Given the description of an element on the screen output the (x, y) to click on. 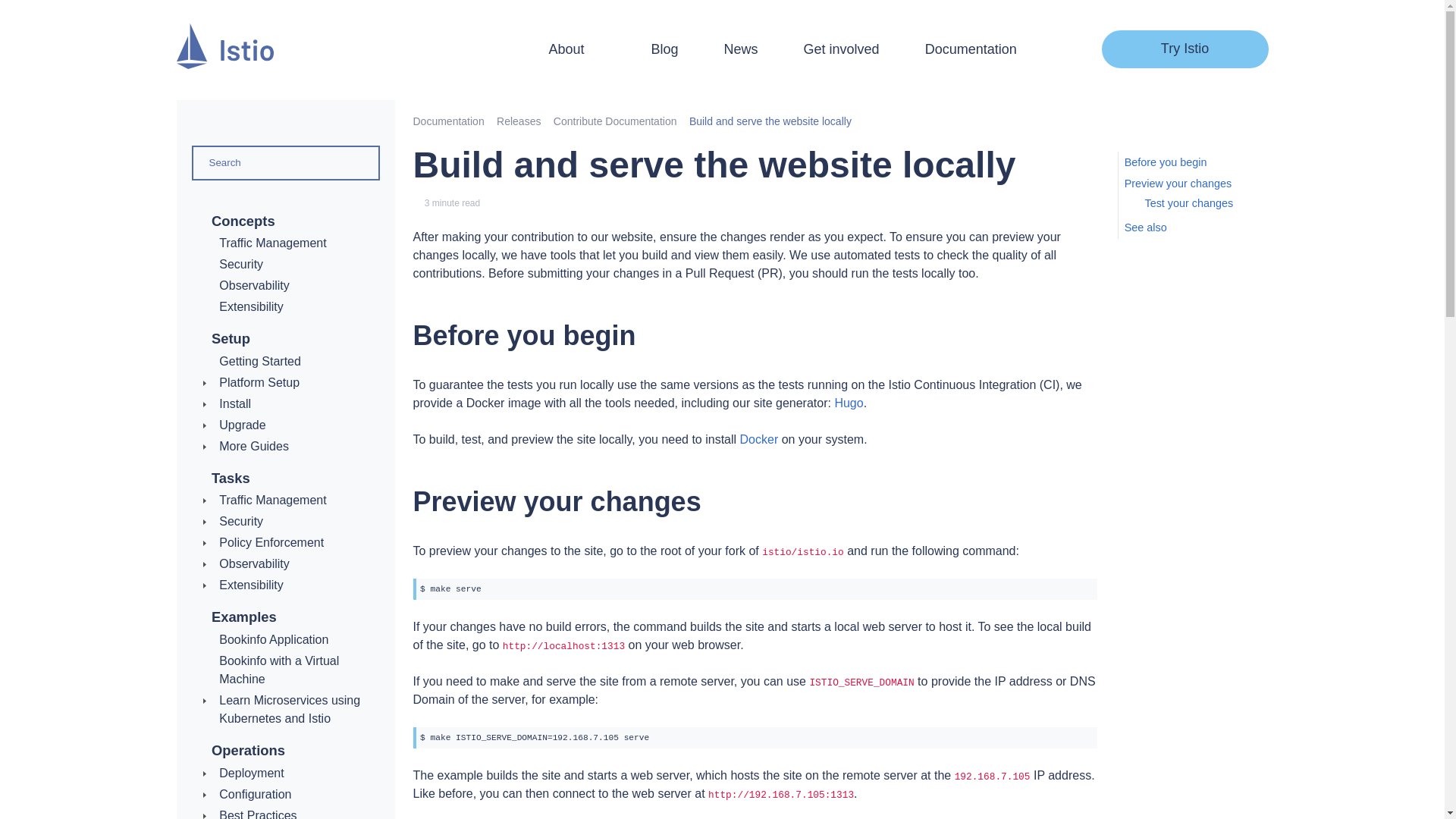
Blog (664, 49)
News (740, 49)
Setup (230, 338)
Observability (253, 285)
Try Istio (1184, 48)
Search this site (1051, 49)
Platform Setup (259, 382)
About (576, 49)
